Given the description of an element on the screen output the (x, y) to click on. 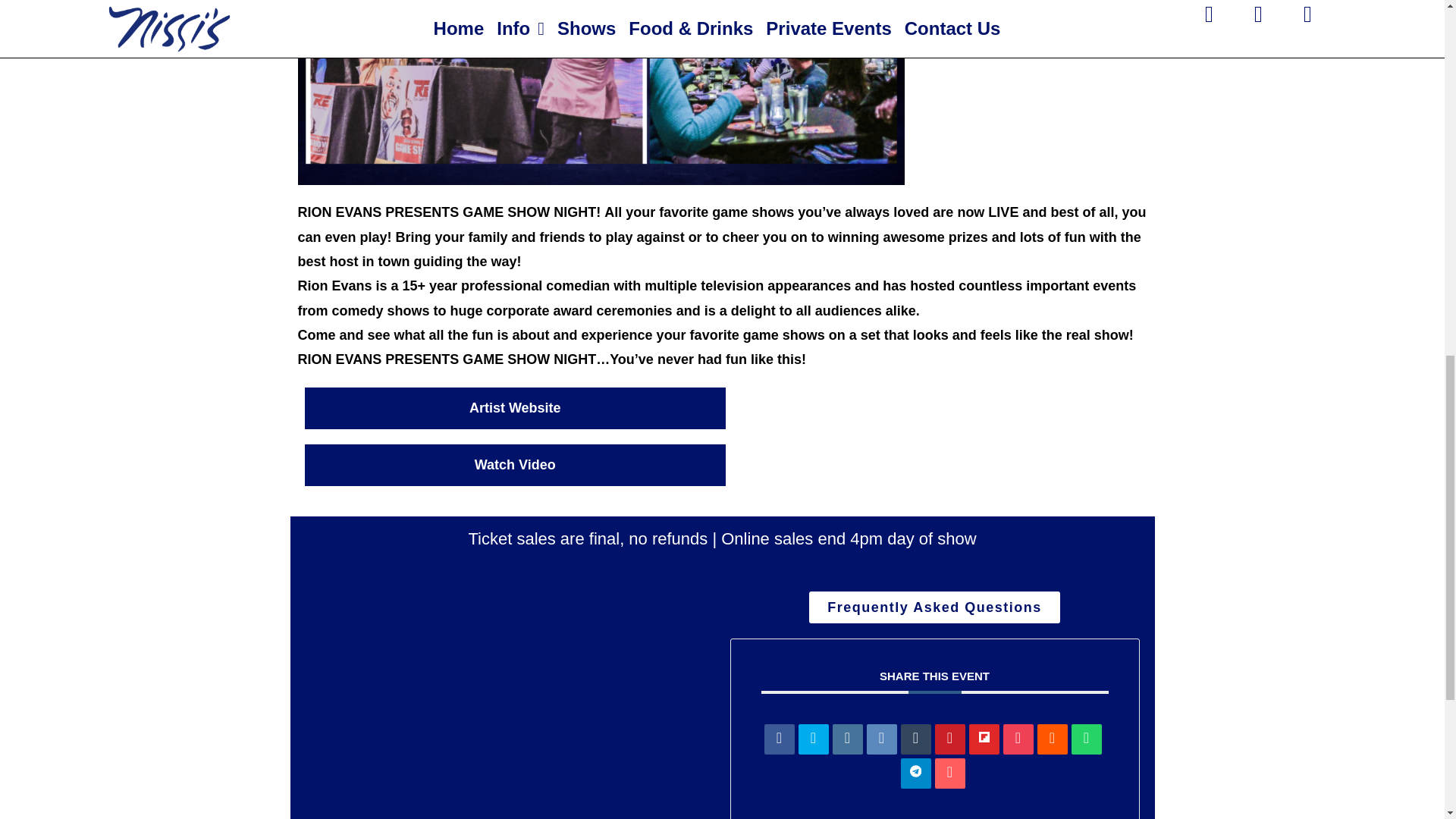
VK (881, 738)
Share on Pinterest (948, 738)
Nissi's entertainment (509, 714)
Share on Telegram (916, 773)
Tweet (812, 738)
Share on Flipboard (983, 738)
Share on Facebook (779, 738)
Share on WhatsApp (1085, 738)
Linkedin (847, 738)
Email (948, 773)
Share on Tumblr (916, 738)
Share on Reddit (1051, 738)
Share on GetPocket (1017, 738)
gameshownightmay nissis entertainment events (600, 92)
